Given the description of an element on the screen output the (x, y) to click on. 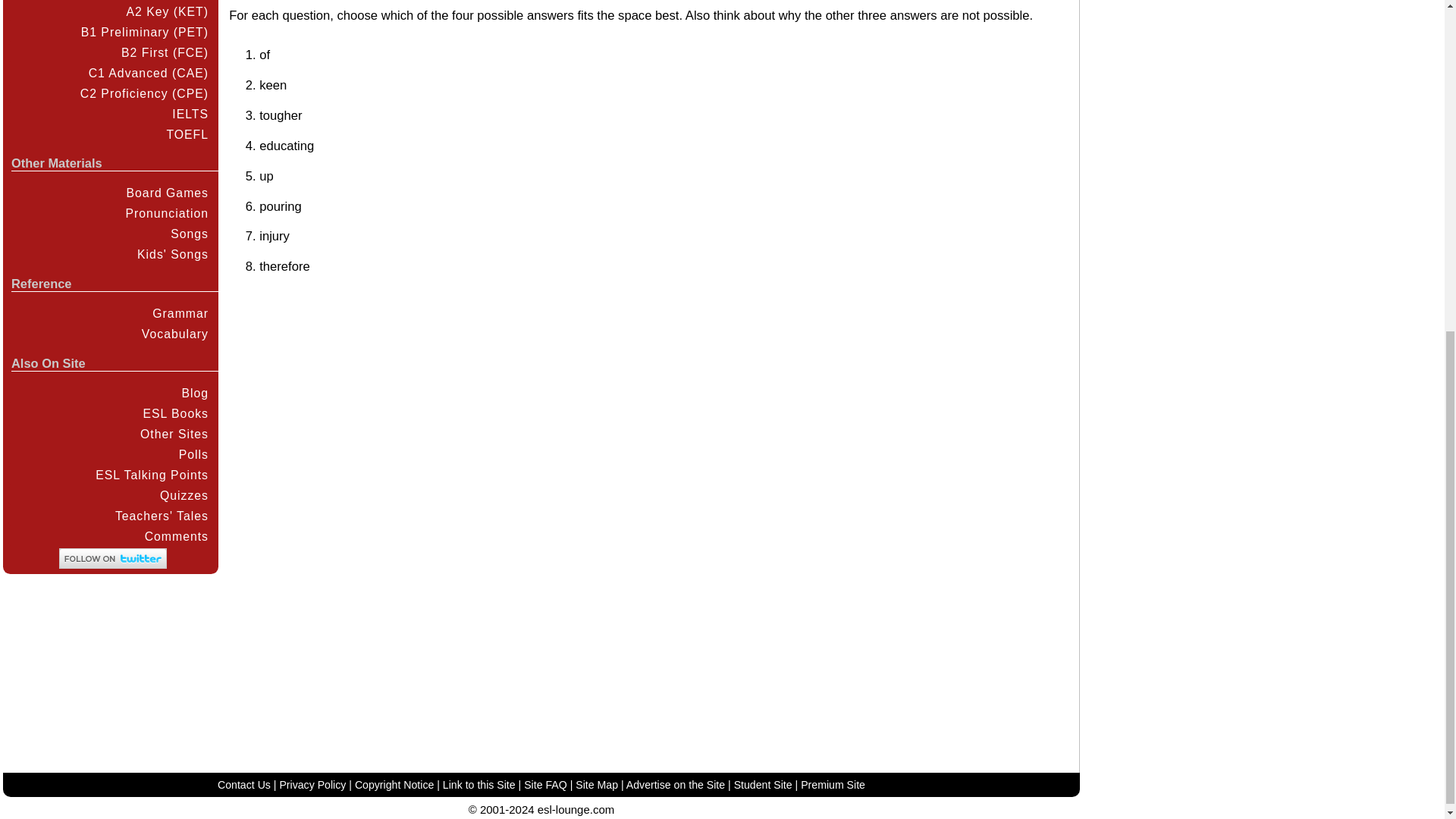
Pronunciation (109, 212)
Kids' Songs (109, 253)
Board Games (109, 192)
TOEFL (109, 134)
Songs (109, 233)
IELTS (109, 113)
